Given the description of an element on the screen output the (x, y) to click on. 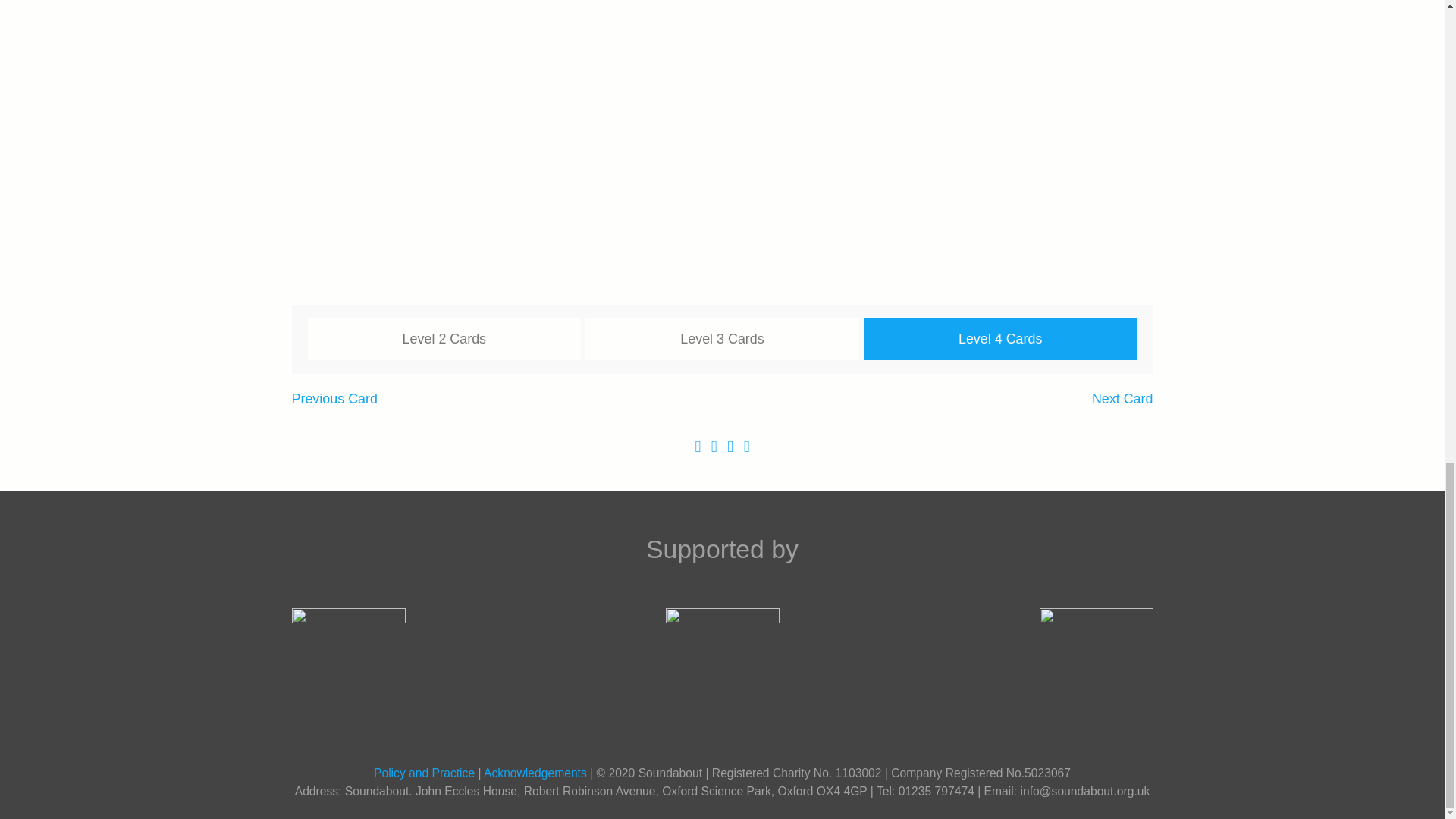
Next Card (1122, 398)
Policy and Practice (424, 772)
Level 4 Cards (1000, 339)
Level 3 Cards (722, 339)
Level 2 Cards (443, 339)
Previous Card (334, 398)
Acknowledgements (534, 772)
